Given the description of an element on the screen output the (x, y) to click on. 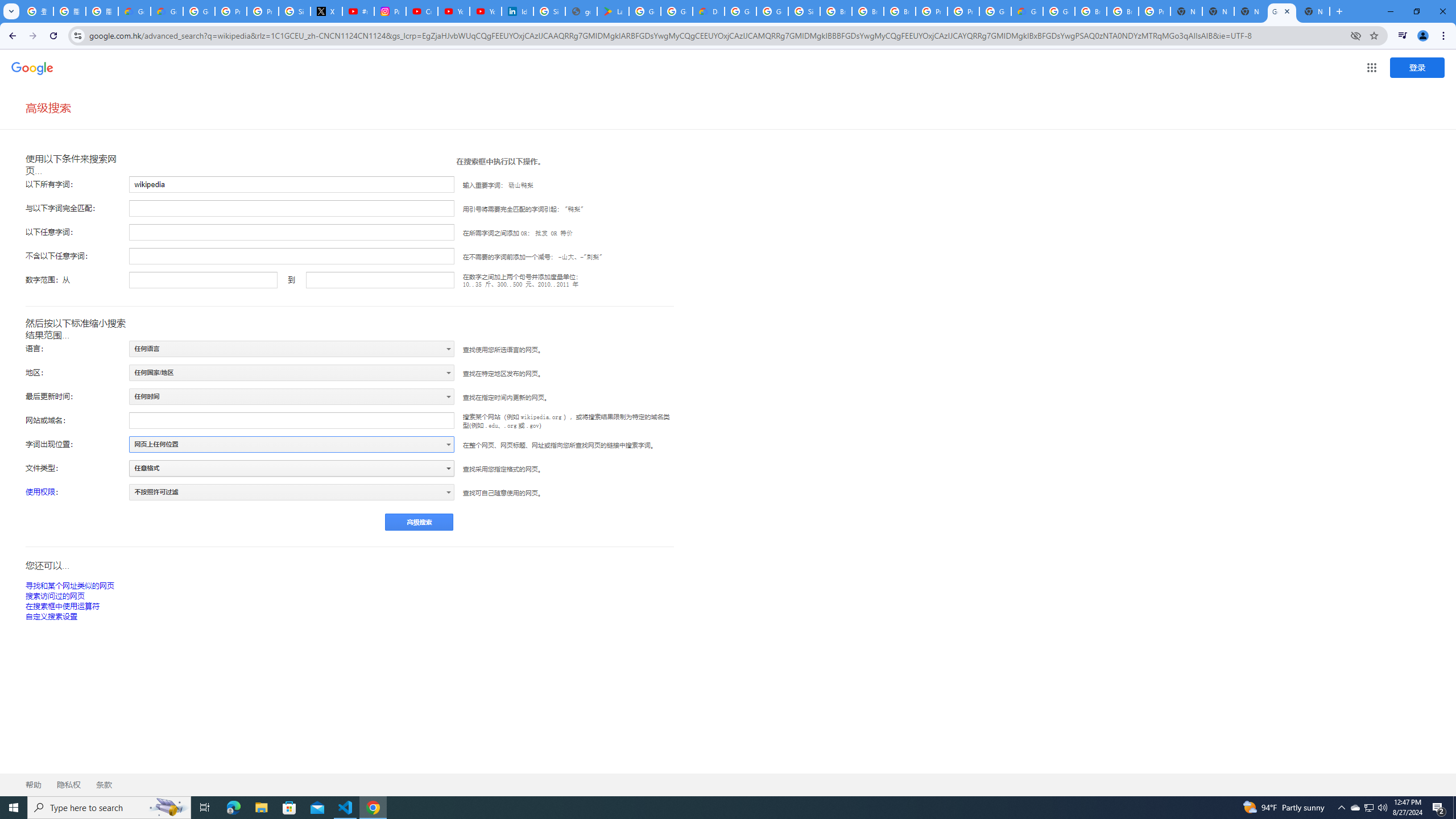
Last Shelter: Survival - Apps on Google Play (613, 11)
Google Workspace - Specific Terms (676, 11)
Google Cloud Privacy Notice (134, 11)
